Given the description of an element on the screen output the (x, y) to click on. 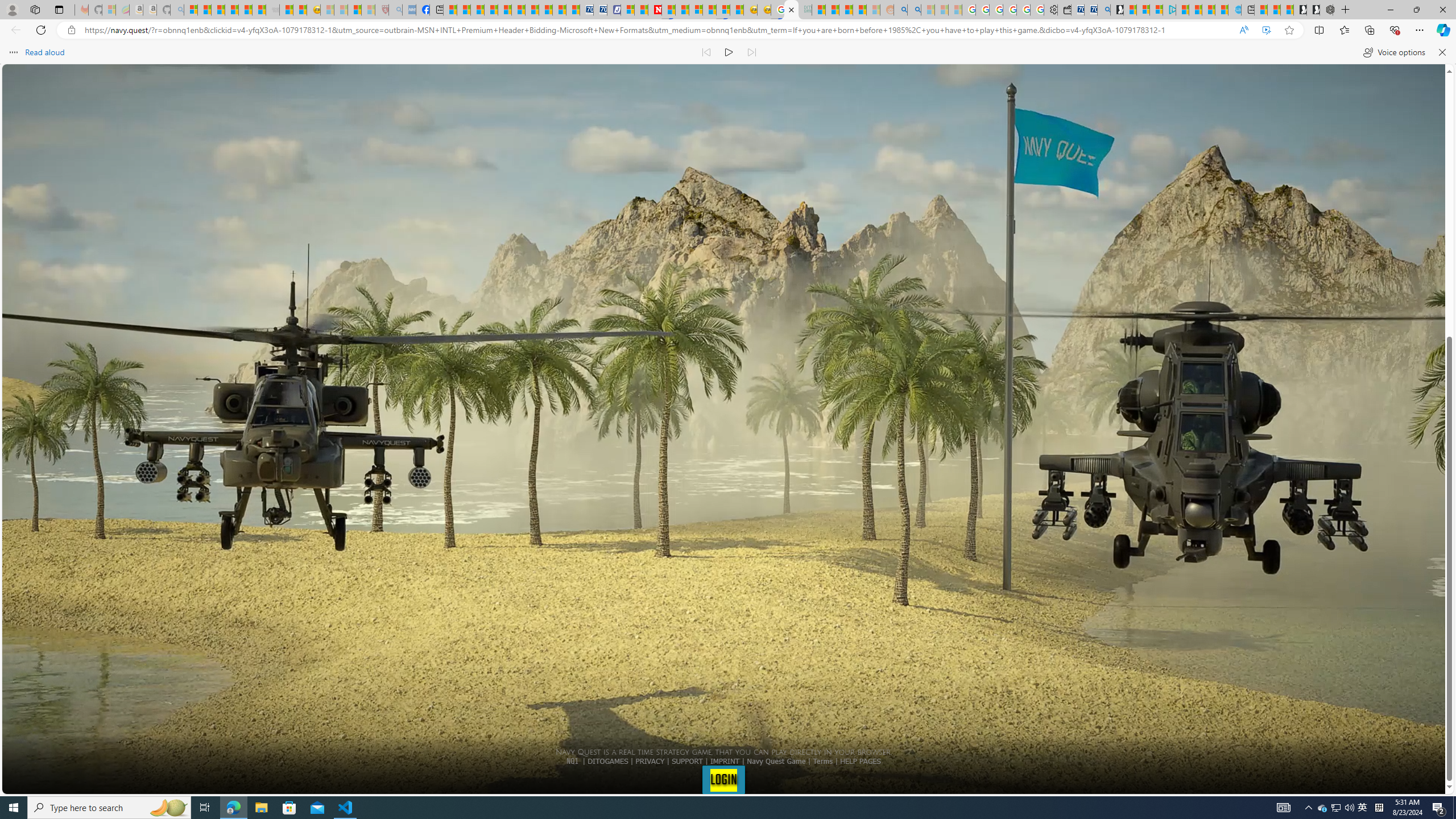
Voice options (1393, 52)
Stocks - MSN (258, 9)
Climate Damage Becomes Too Severe To Reverse (490, 9)
Home | Sky Blue Bikes - Sky Blue Bikes (1234, 9)
Utah sues federal government - Search (914, 9)
